Given the description of an element on the screen output the (x, y) to click on. 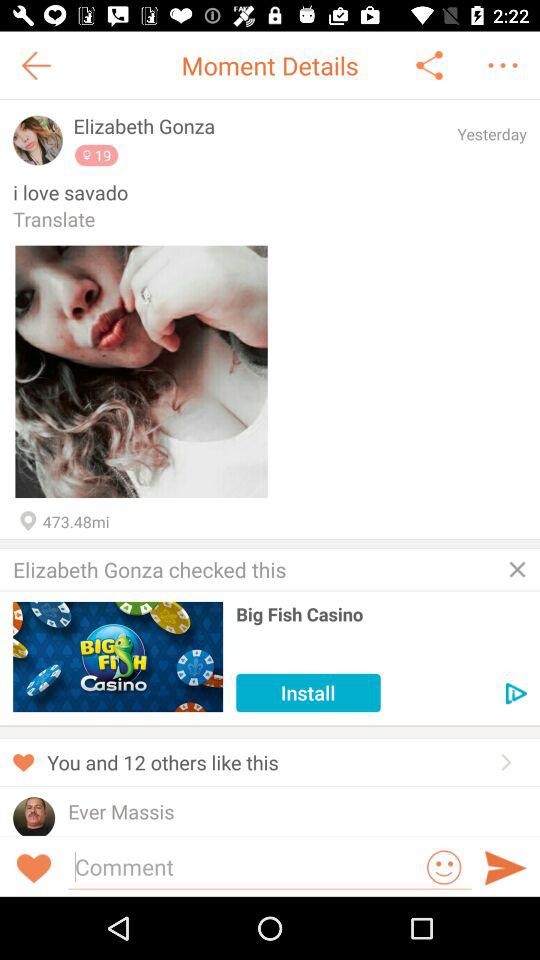
profile pic (34, 816)
